Given the description of an element on the screen output the (x, y) to click on. 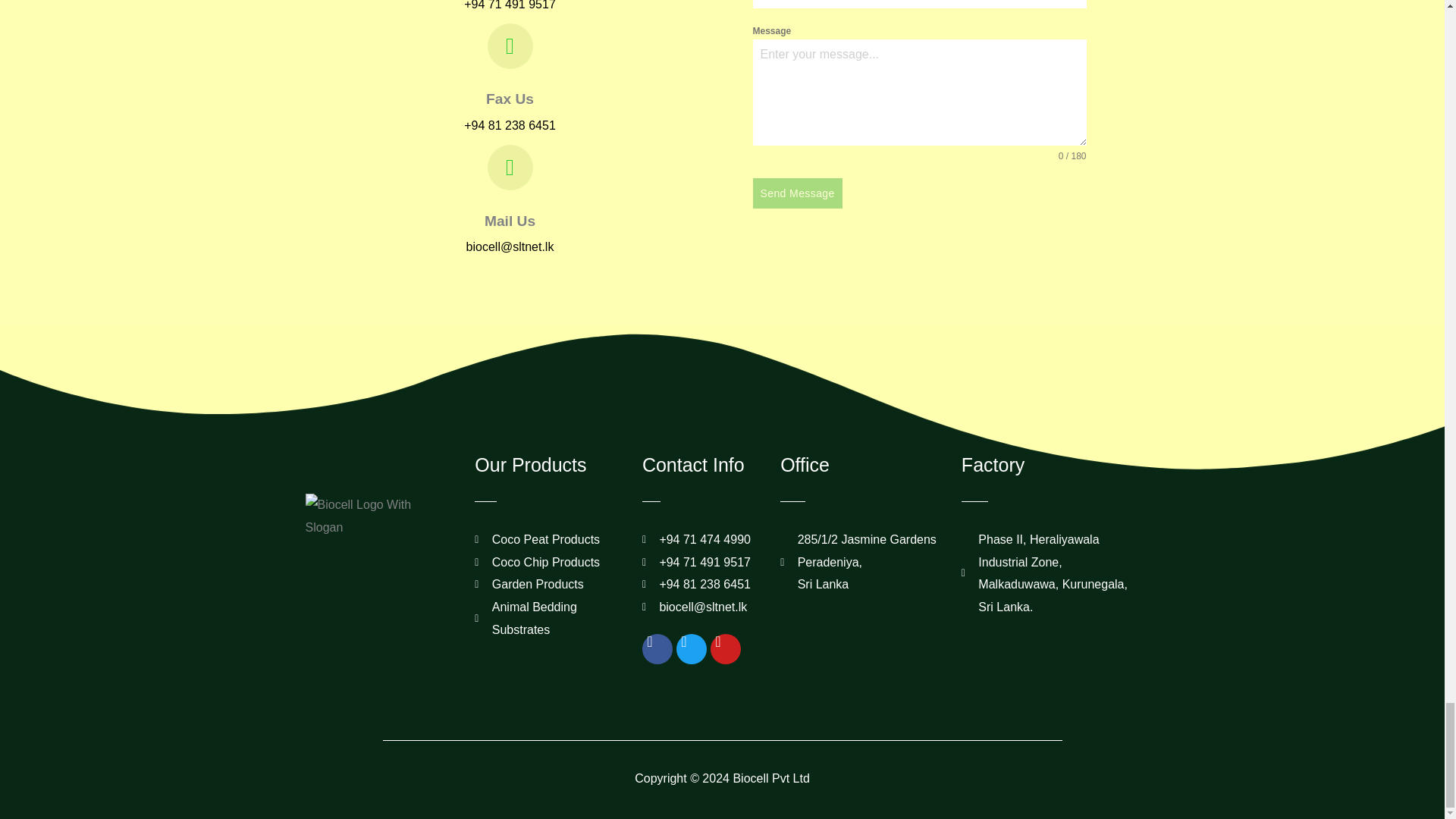
Animal Bedding Substrates (547, 618)
Coco Chip Products (547, 562)
Coco Peat Products (547, 539)
Send Message (796, 193)
Garden Products (547, 584)
